Given the description of an element on the screen output the (x, y) to click on. 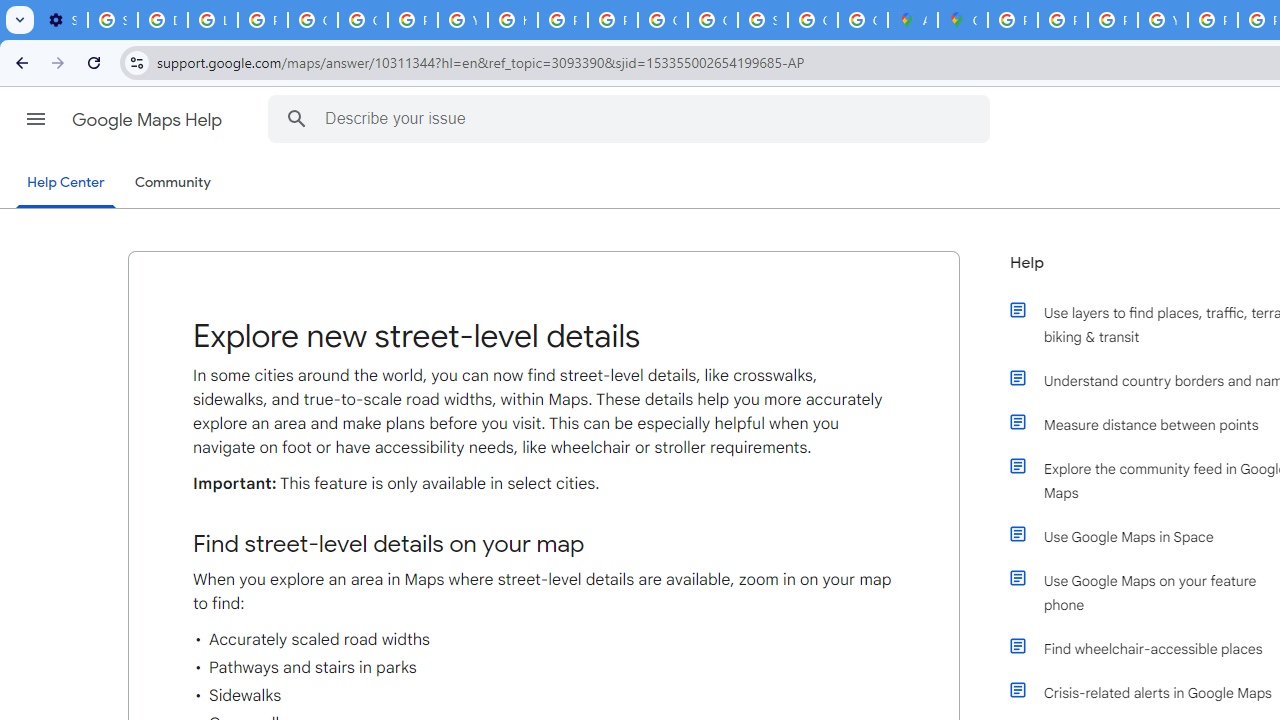
Google Maps Help (148, 119)
Settings - On startup (62, 20)
Google Maps (963, 20)
Privacy Help Center - Policies Help (1062, 20)
Delete photos & videos - Computer - Google Photos Help (163, 20)
Sign in - Google Accounts (113, 20)
Describe your issue (632, 118)
Privacy Help Center - Policies Help (562, 20)
